Given the description of an element on the screen output the (x, y) to click on. 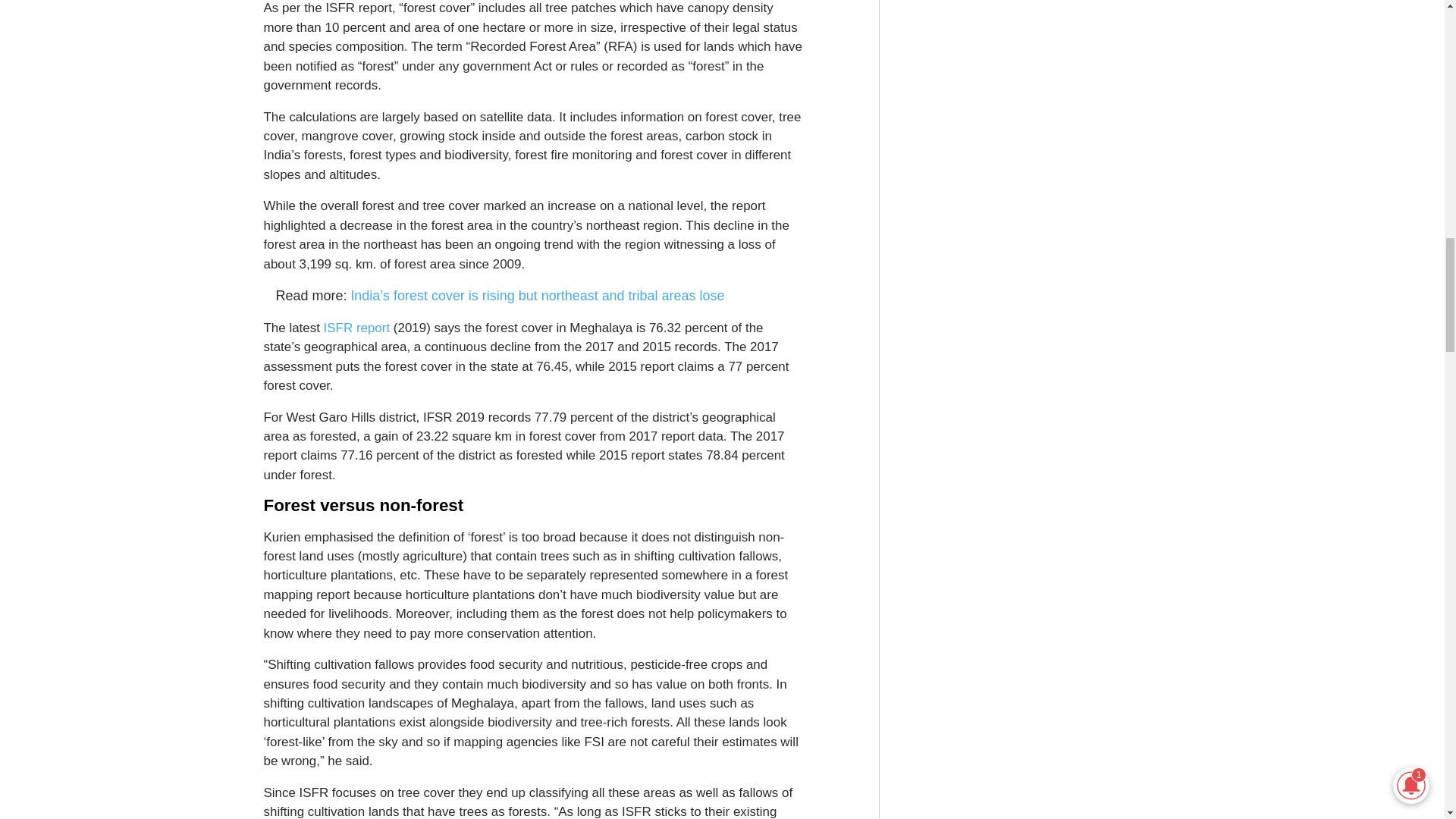
ISFR report (356, 327)
